Given the description of an element on the screen output the (x, y) to click on. 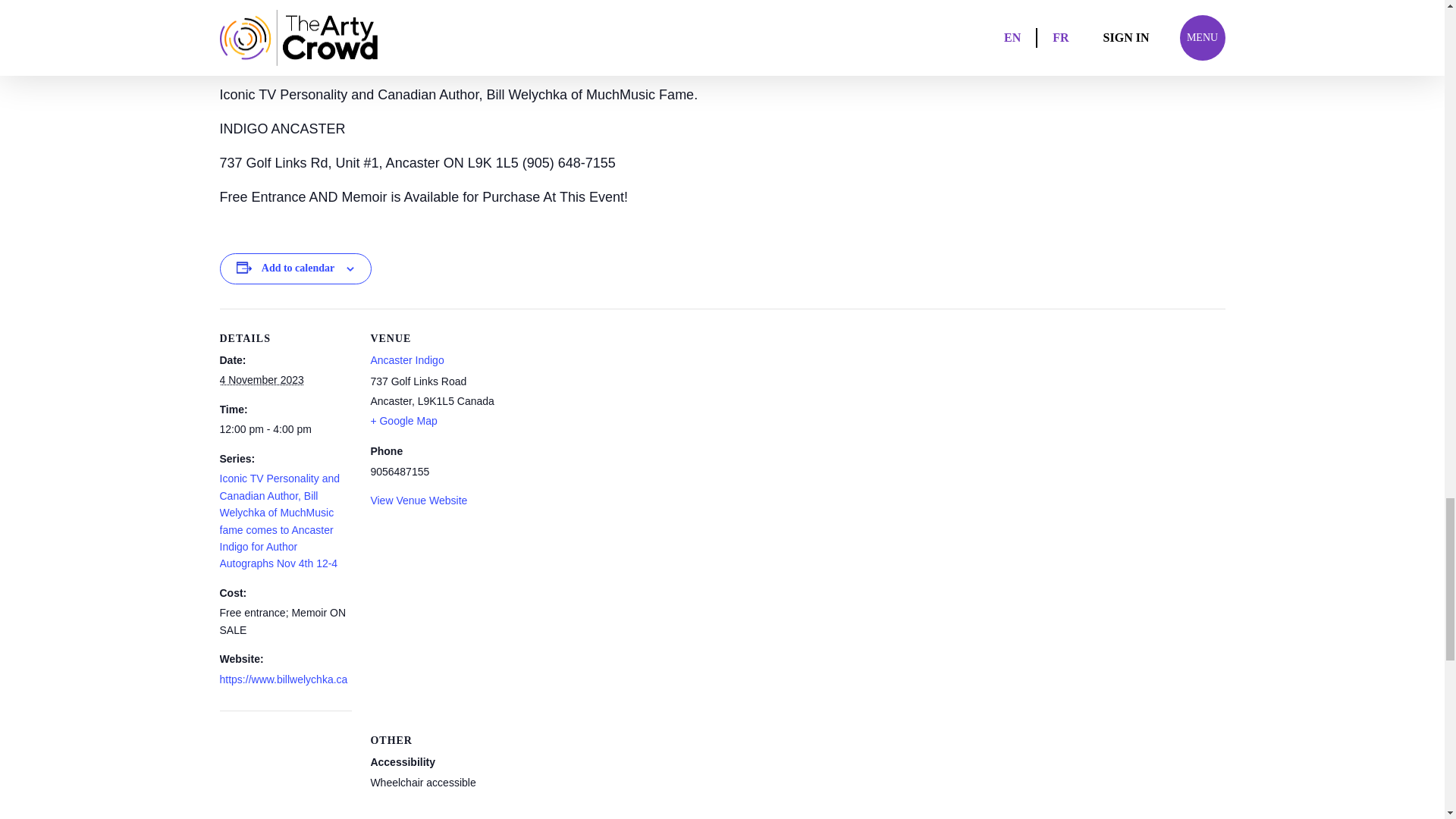
Add to calendar (298, 268)
Ancaster Indigo (406, 359)
Click to view a Google Map (402, 420)
View Venue Website (418, 500)
2023-11-04 (261, 379)
2023-11-04 (285, 428)
